Given the description of an element on the screen output the (x, y) to click on. 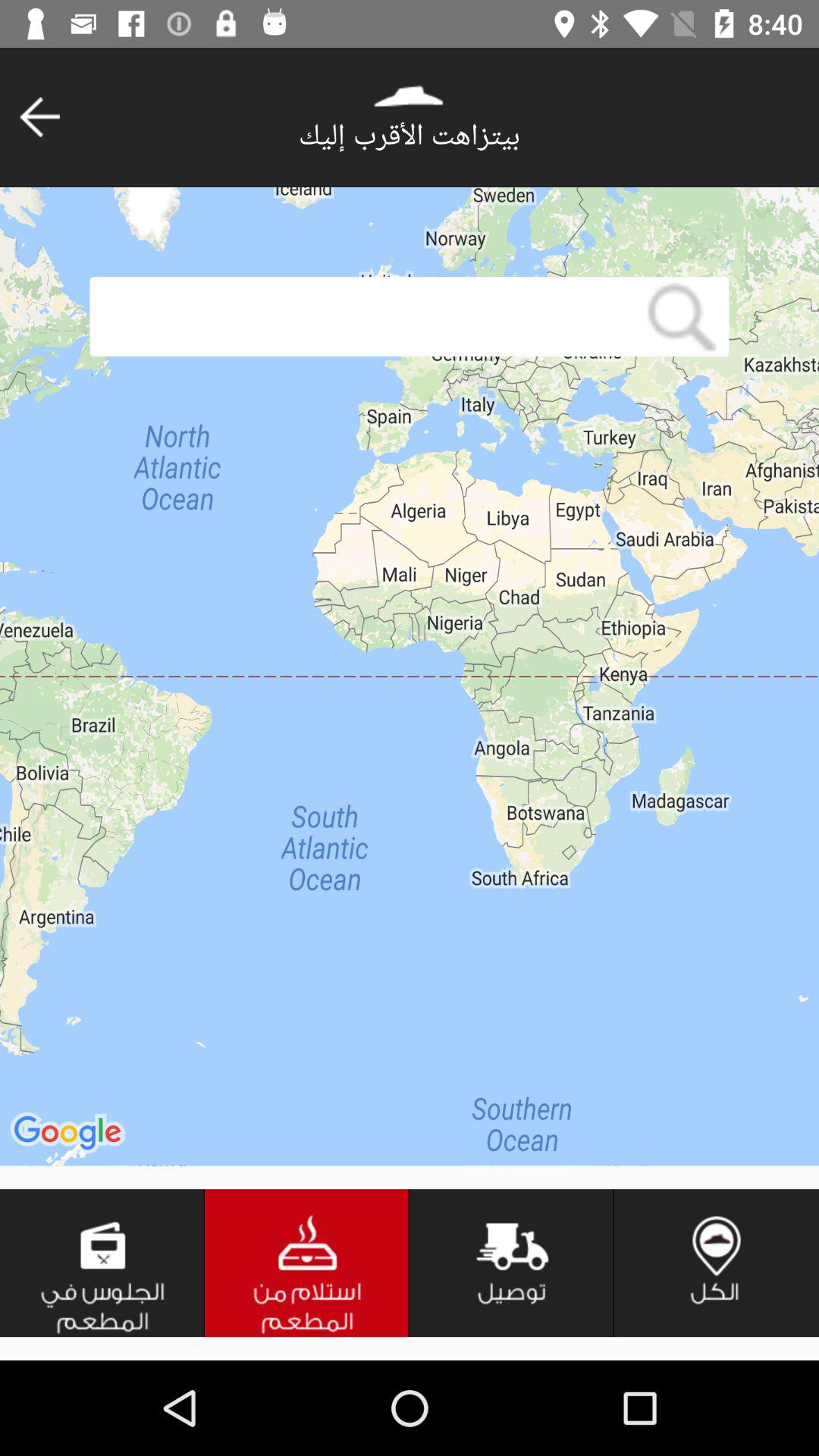
press item at the top right corner (681, 316)
